Given the description of an element on the screen output the (x, y) to click on. 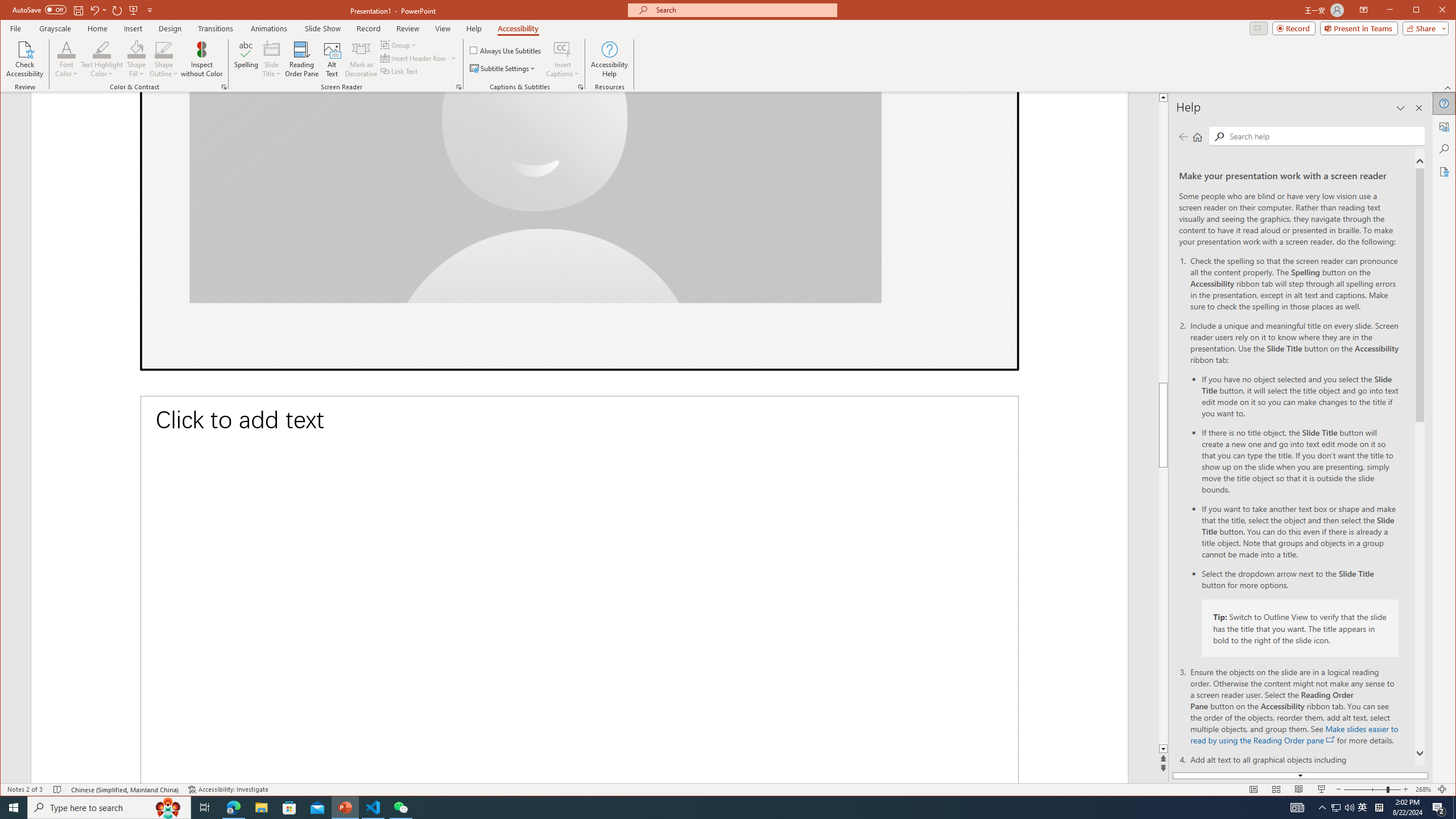
Color & Contrast (223, 86)
